Given the description of an element on the screen output the (x, y) to click on. 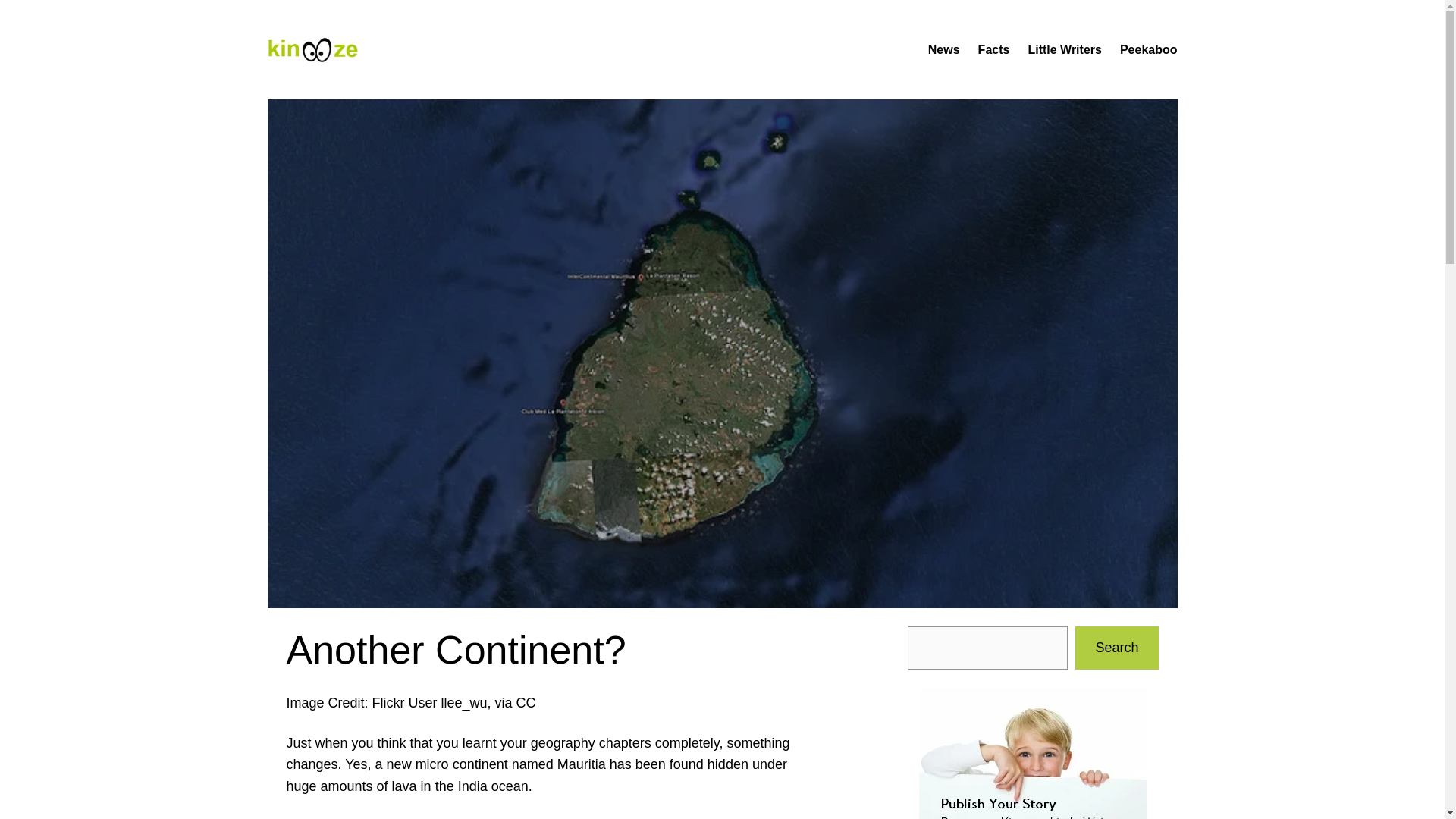
Facts (994, 49)
Search (1116, 647)
News (943, 49)
Little Writers (1064, 49)
Peekaboo (1148, 49)
